Given the description of an element on the screen output the (x, y) to click on. 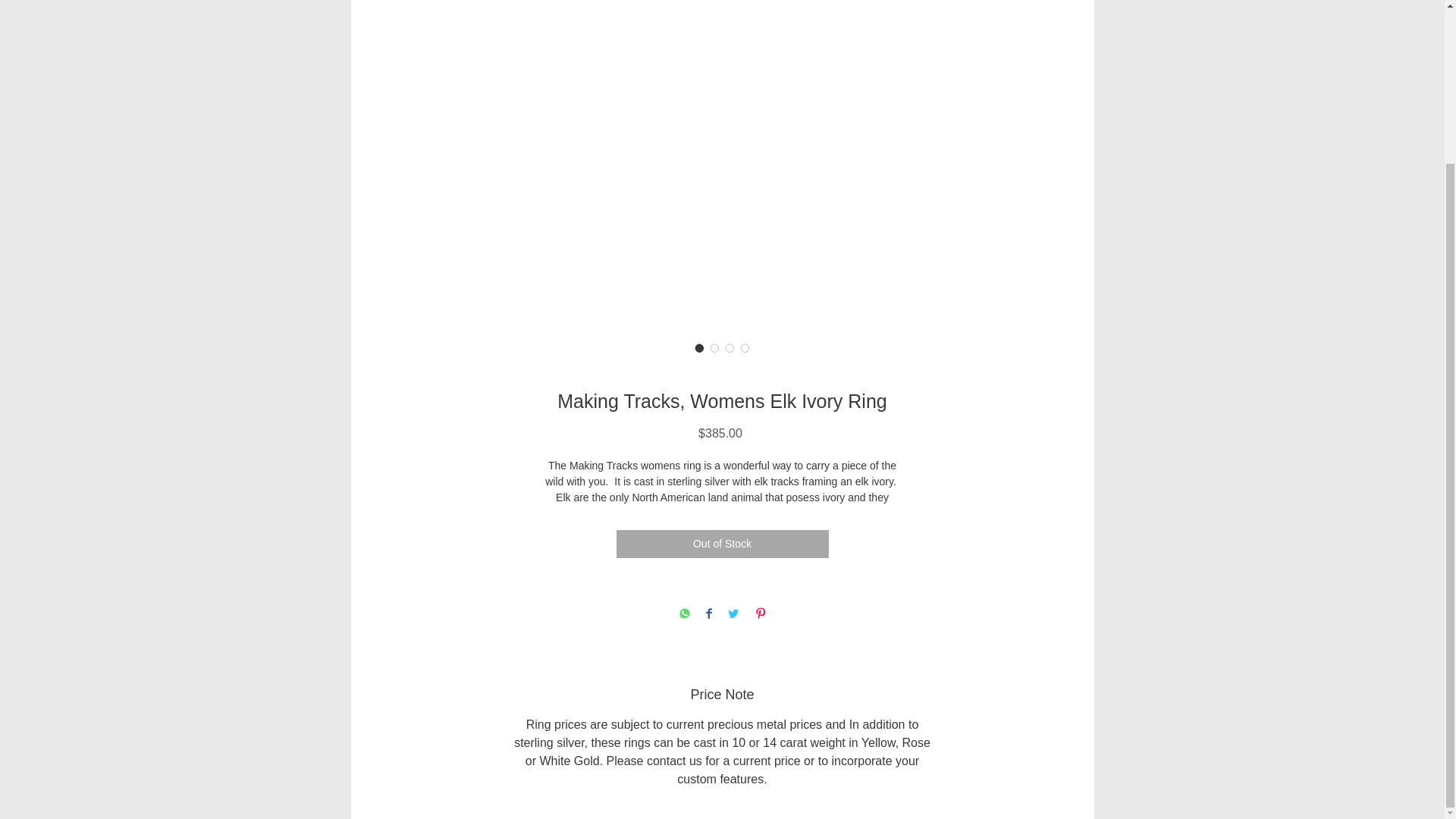
Out of Stock (721, 543)
